Given the description of an element on the screen output the (x, y) to click on. 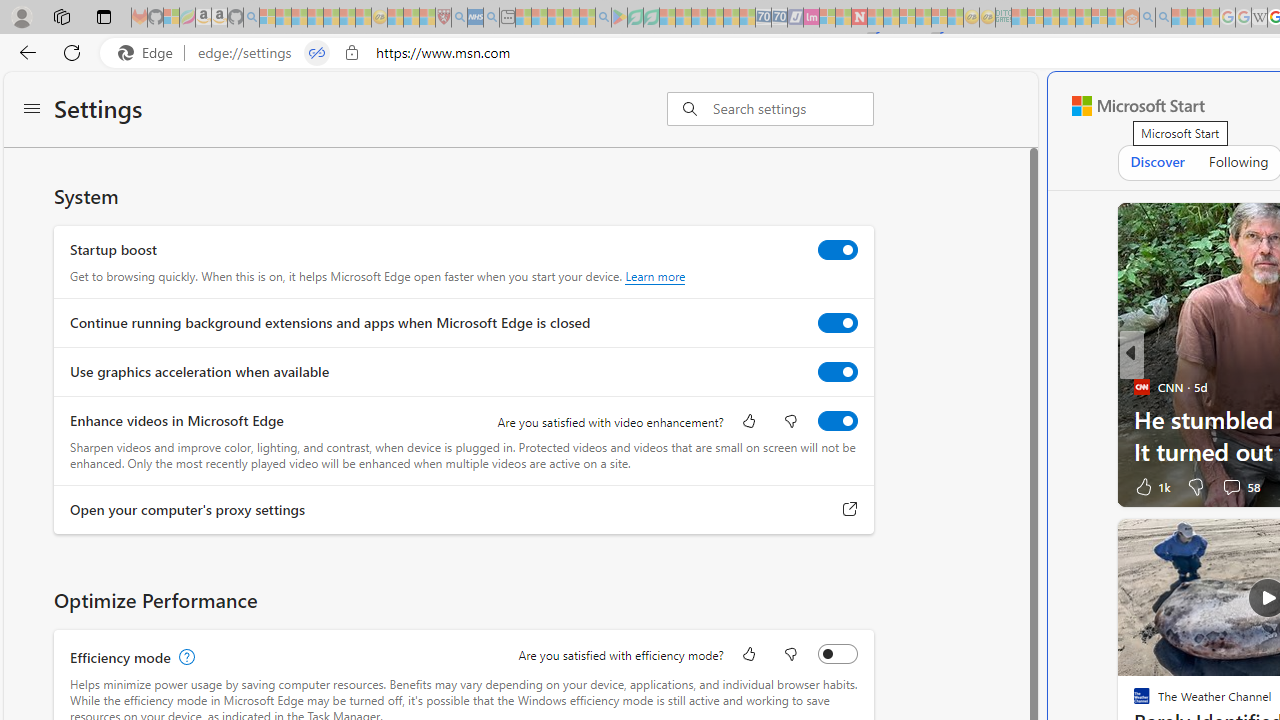
10 BIGGEST Underwater Creatures In The World (814, 450)
list of asthma inhalers uk - Search - Sleeping (459, 17)
MSNBC - MSN - Sleeping (1019, 17)
Jobs - lastminute.com Investor Portal - Sleeping (811, 17)
Microsoft-Report a Concern to Bing - Sleeping (171, 17)
Kinda Frugal - MSN - Sleeping (1083, 17)
Trusted Community Engagement and Contributions | Guidelines (875, 17)
Target page - Wikipedia - Sleeping (1259, 17)
